Given the description of an element on the screen output the (x, y) to click on. 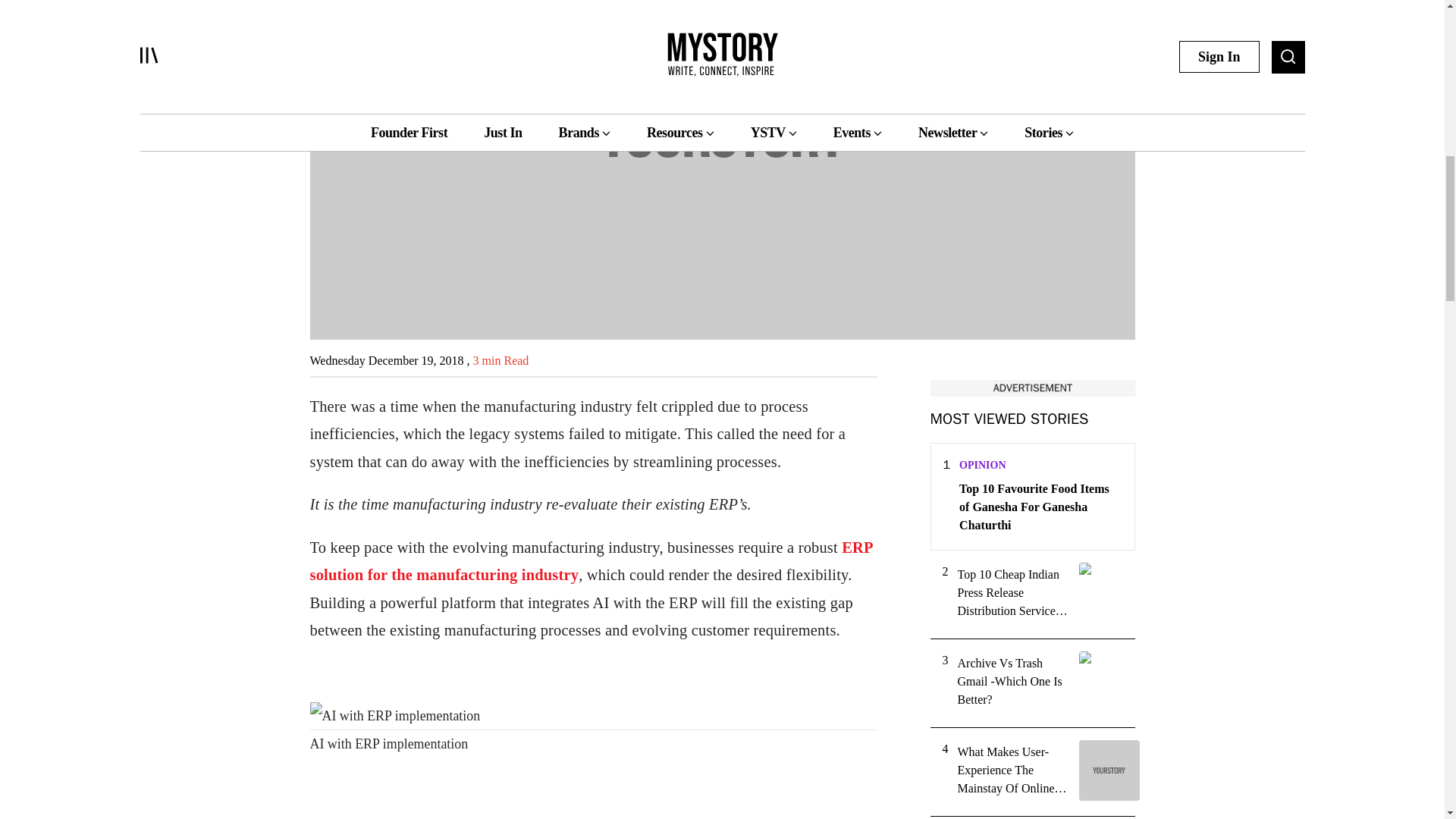
ERP solution for the manufacturing industry (590, 560)
OPINION (982, 464)
Top 10 Favourite Food Items of Ganesha For Ganesha Chaturthi (1040, 506)
Advertise with us (1032, 387)
Archive Vs Trash Gmail -Which One Is Better? (1012, 681)
What Makes User-Experience The Mainstay Of Online Marketing? (1012, 769)
